Given the description of an element on the screen output the (x, y) to click on. 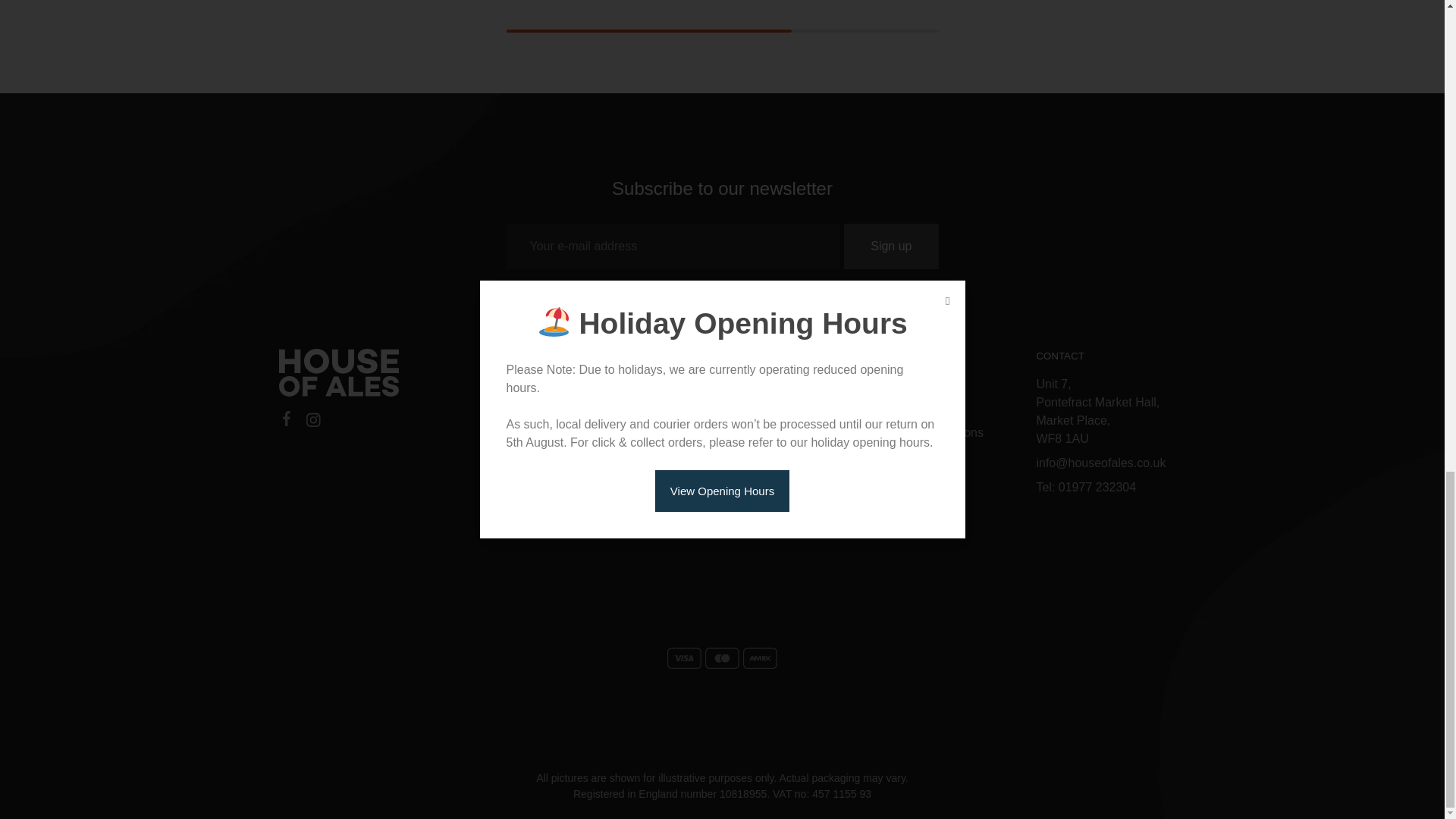
Sign up (890, 246)
Instagram (312, 422)
Facebook (286, 420)
